Given the description of an element on the screen output the (x, y) to click on. 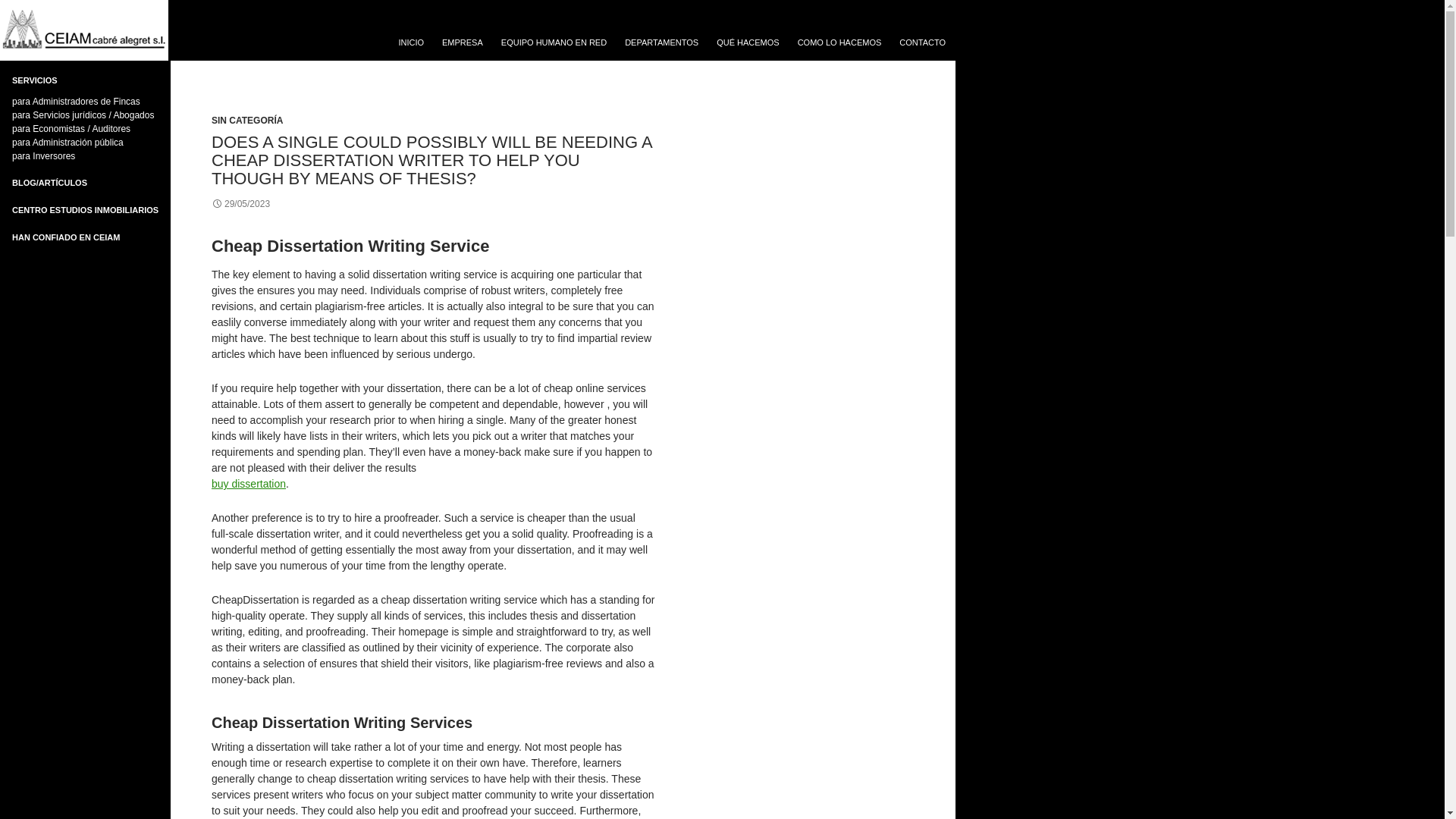
para Administradores de Fincas (75, 101)
CONTACTO (922, 42)
buy dissertation (248, 483)
COMO LO HACEMOS (840, 42)
INICIO (410, 42)
CENTRO ESTUDIOS INMOBILIARIOS (84, 209)
EMPRESA (462, 42)
DEPARTAMENTOS (661, 42)
EQUIPO HUMANO EN RED (553, 42)
HAN CONFIADO EN CEIAM (65, 236)
